Given the description of an element on the screen output the (x, y) to click on. 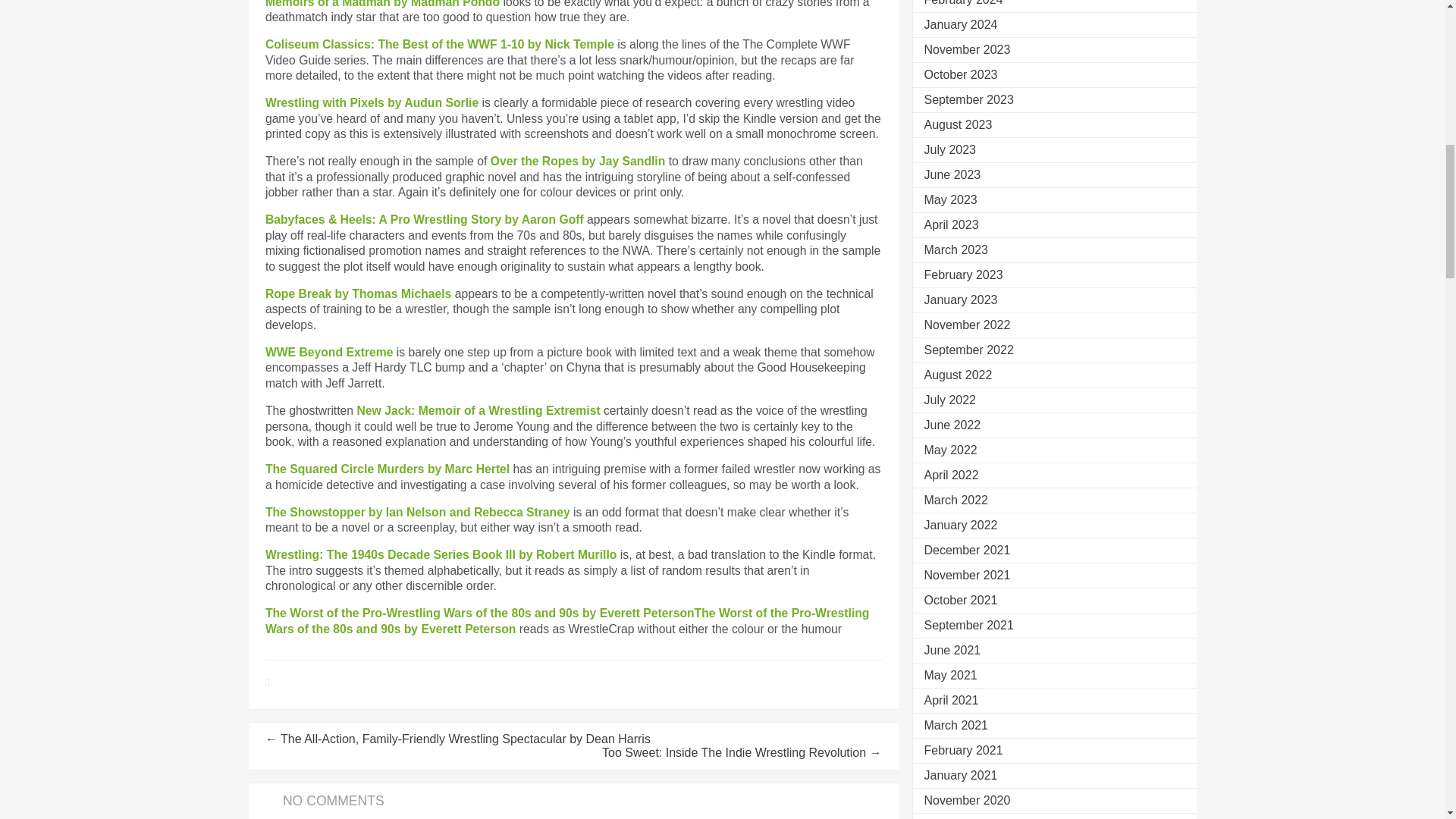
Over the Ropes by Jay Sandlin (577, 160)
Rope Break by Thomas Michaels (357, 293)
New Jack: Memoir of a Wrestling Extremist (477, 410)
WWE Beyond Extreme (328, 351)
Wrestling with Pixels by Audun Sorlie (371, 102)
Coliseum Classics: The Best of the WWF 1-10 by Nick Temple (439, 43)
The Squared Circle Murders by Marc Hertel (386, 468)
